Given the description of an element on the screen output the (x, y) to click on. 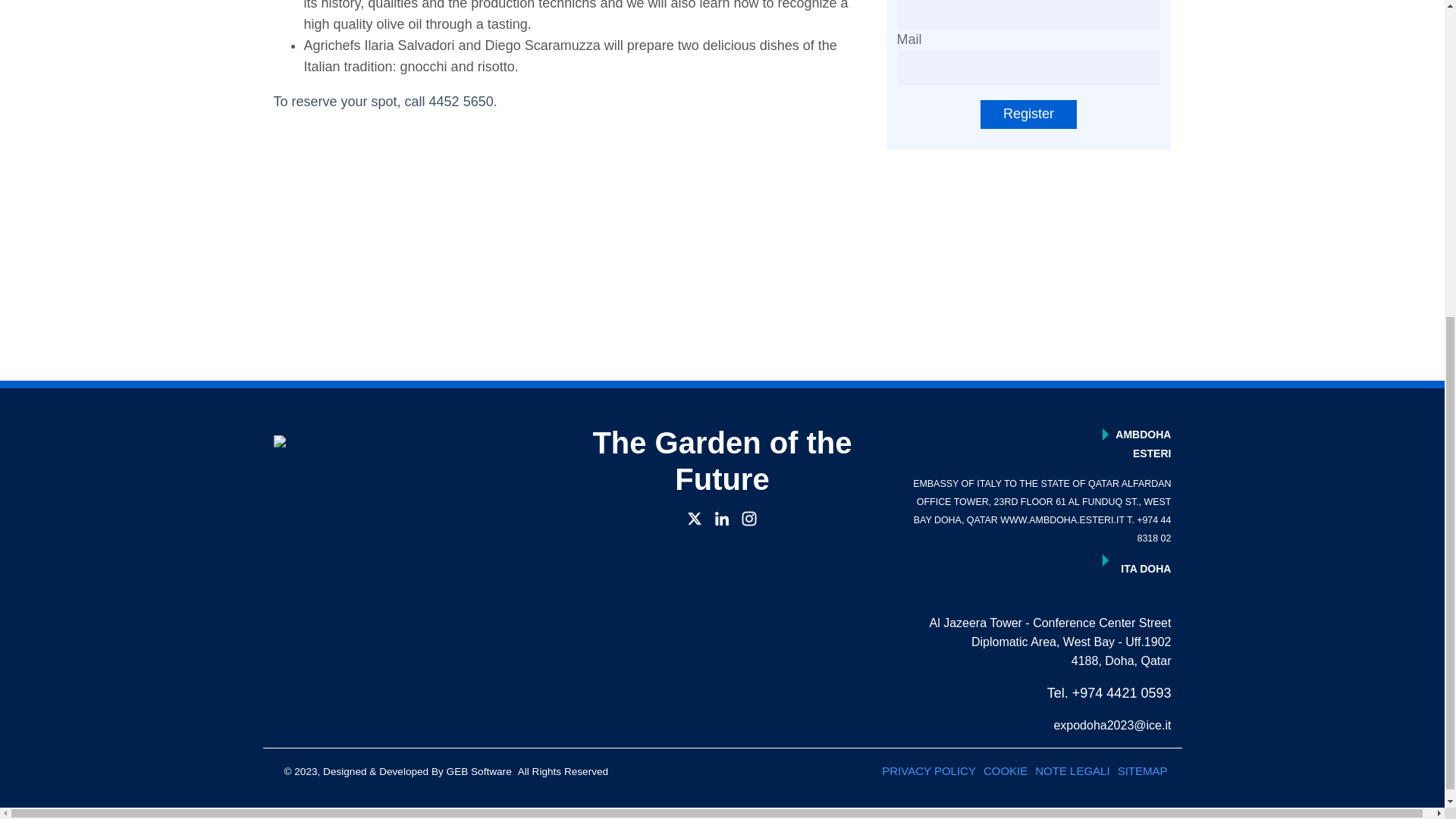
Register (1028, 113)
Next page (733, 322)
Register (1028, 113)
Previous page (706, 322)
ITA DOHA (1034, 574)
